Given the description of an element on the screen output the (x, y) to click on. 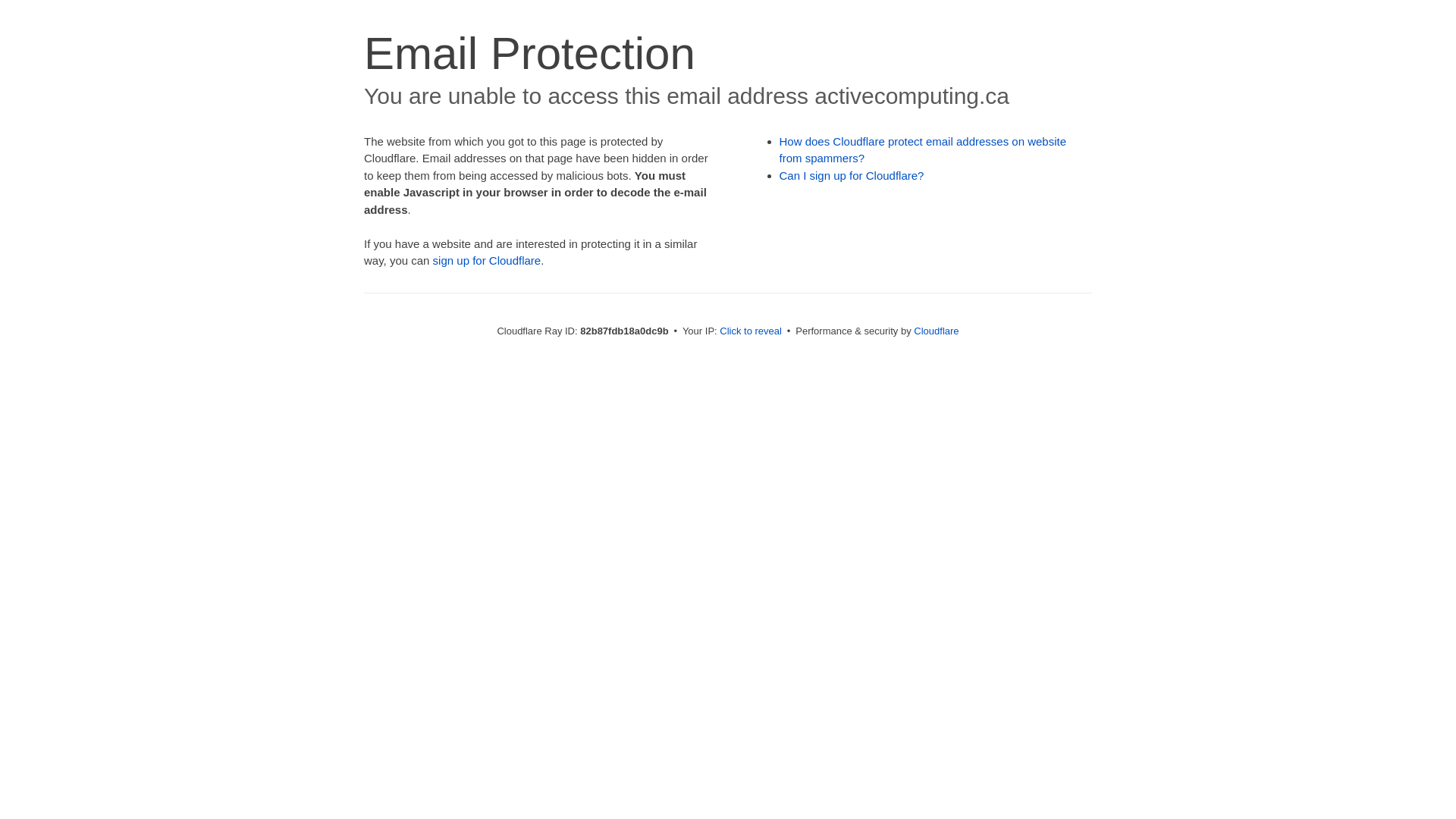
Click to reveal Element type: text (750, 330)
Can I sign up for Cloudflare? Element type: text (851, 175)
sign up for Cloudflare Element type: text (487, 260)
Cloudflare Element type: text (935, 330)
